Given the description of an element on the screen output the (x, y) to click on. 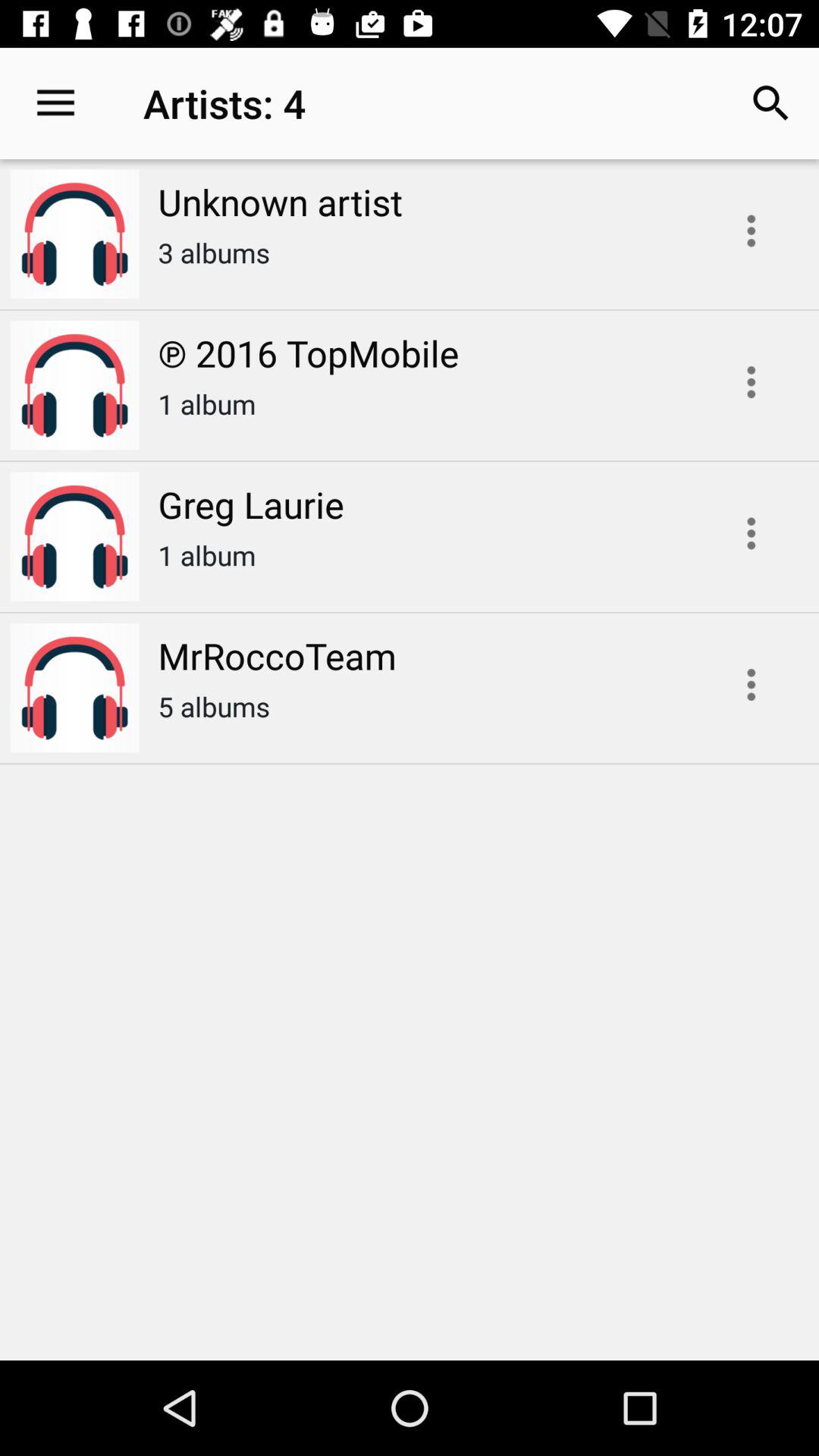
click icon to the left of the unknown artist item (55, 103)
